Given the description of an element on the screen output the (x, y) to click on. 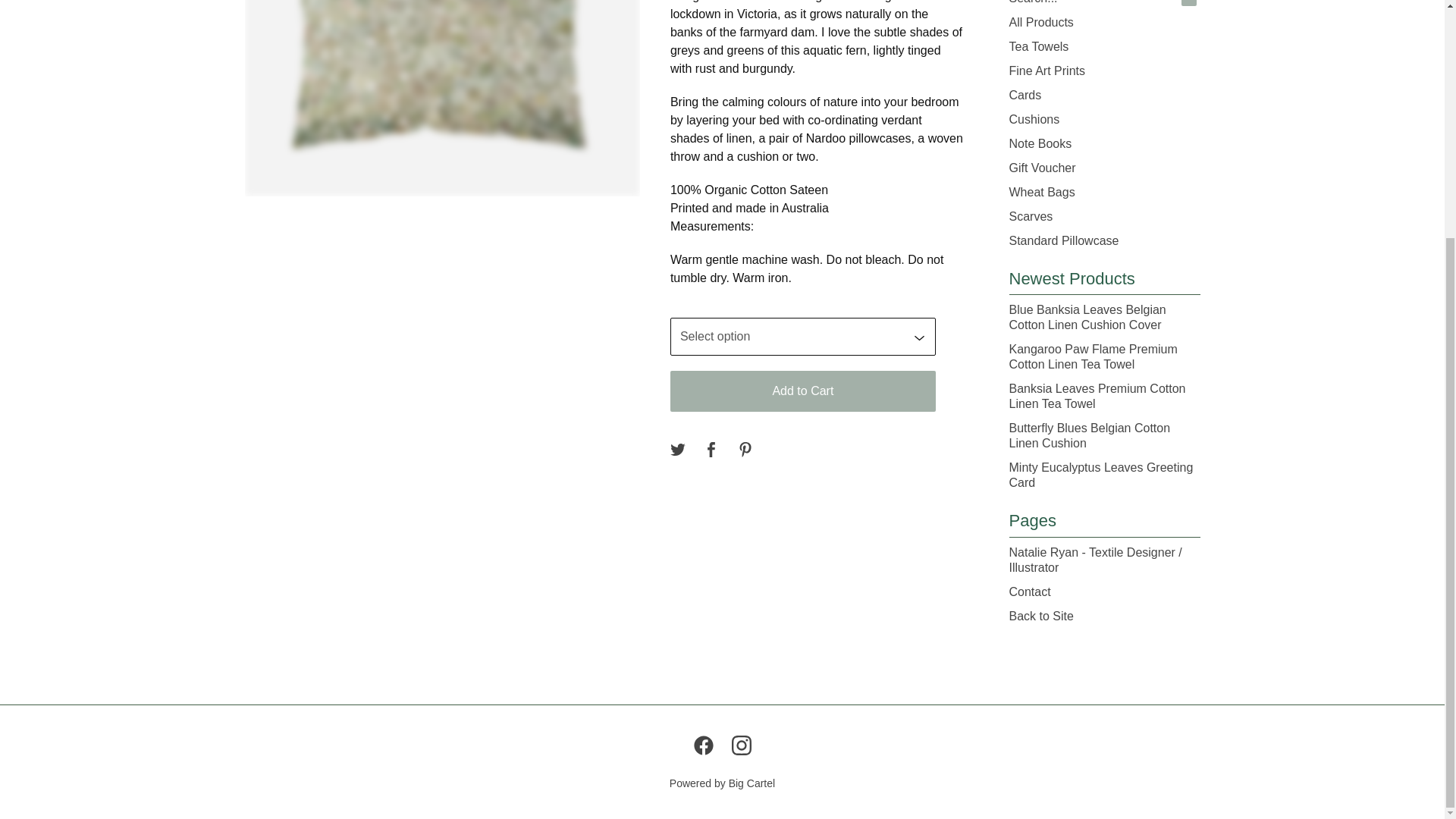
View Kangaroo Paw Flame Premium Cotton Linen Tea Towel (1104, 356)
Blue Banksia Leaves Belgian Cotton Linen Cushion Cover (1104, 317)
Fine Art Prints (1104, 70)
View Tea Towels (1104, 46)
Butterfly Blues Belgian Cotton Linen Cushion (1104, 435)
View Note Books (1104, 143)
View Fine Art Prints (1104, 70)
View Wheat Bags (1104, 192)
Contact (1104, 591)
View Cushions (1104, 119)
Pin (745, 450)
View Standard Pillowcase (1104, 241)
Kangaroo Paw Flame Premium Cotton Linen Tea Towel (1104, 356)
Add to Cart (802, 391)
Banksia Leaves Premium Cotton Linen Tea Towel (1104, 396)
